Given the description of an element on the screen output the (x, y) to click on. 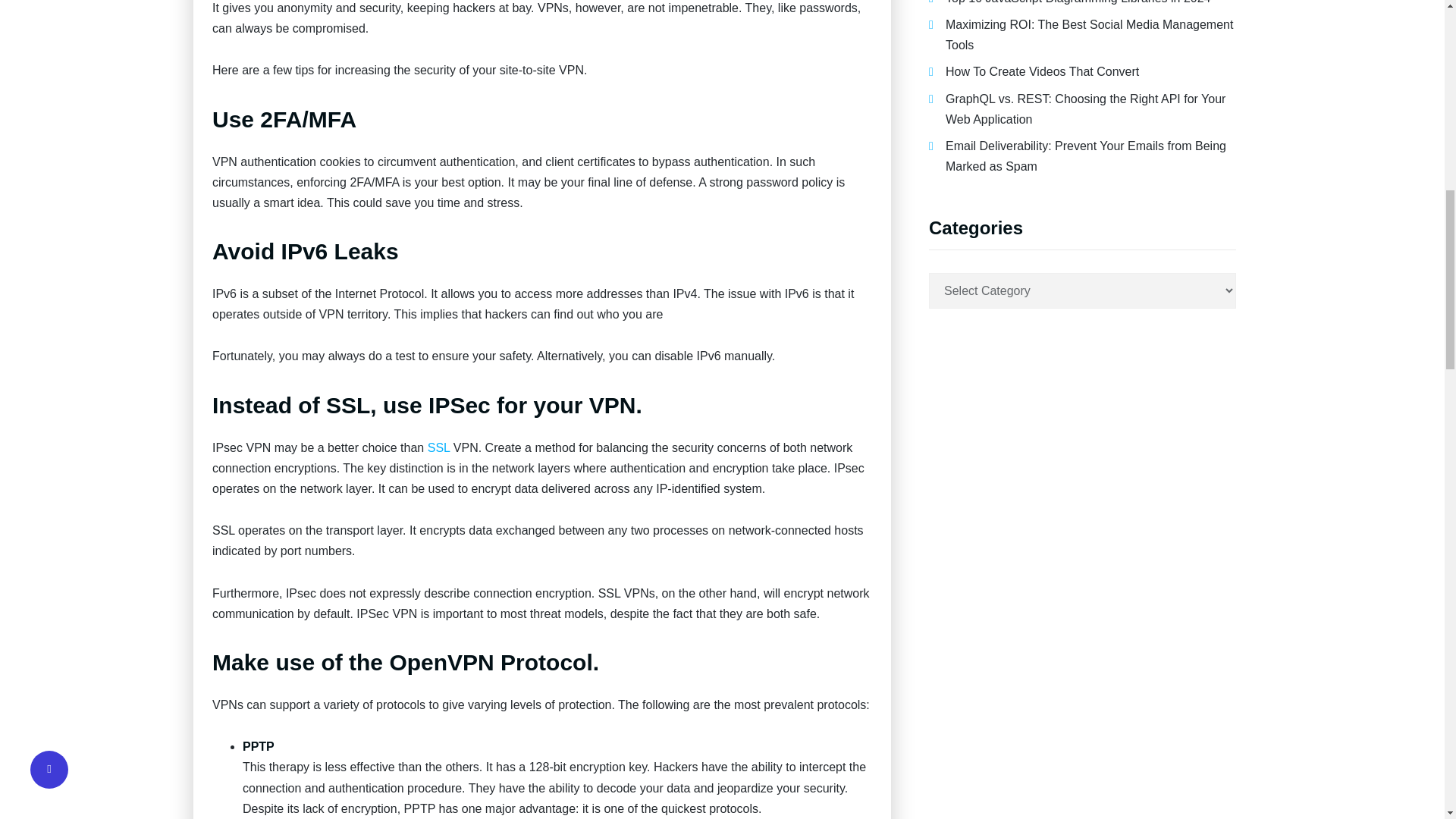
SSL (438, 447)
Maximizing ROI: The Best Social Media Management Tools (1088, 34)
Advertisement (1085, 685)
How To Create Videos That Convert (1041, 71)
Top 10 JavaScript Diagramming Libraries in 2024 (1077, 2)
Advertisement (1085, 452)
Advertisement (1085, 816)
